Given the description of an element on the screen output the (x, y) to click on. 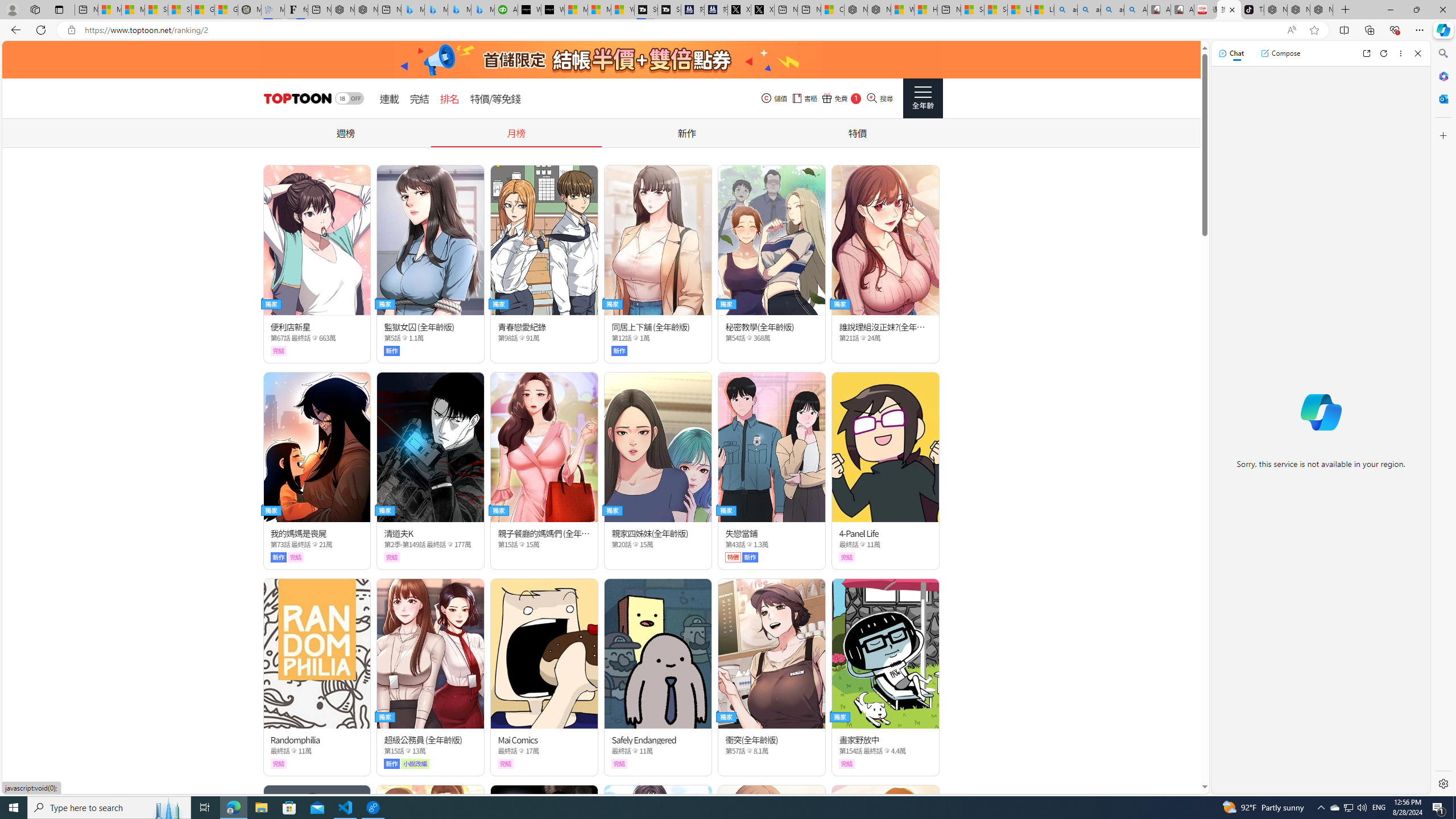
Nordace Siena Pro 15 Backpack (1298, 9)
Streaming Coverage | T3 (645, 9)
